Given the description of an element on the screen output the (x, y) to click on. 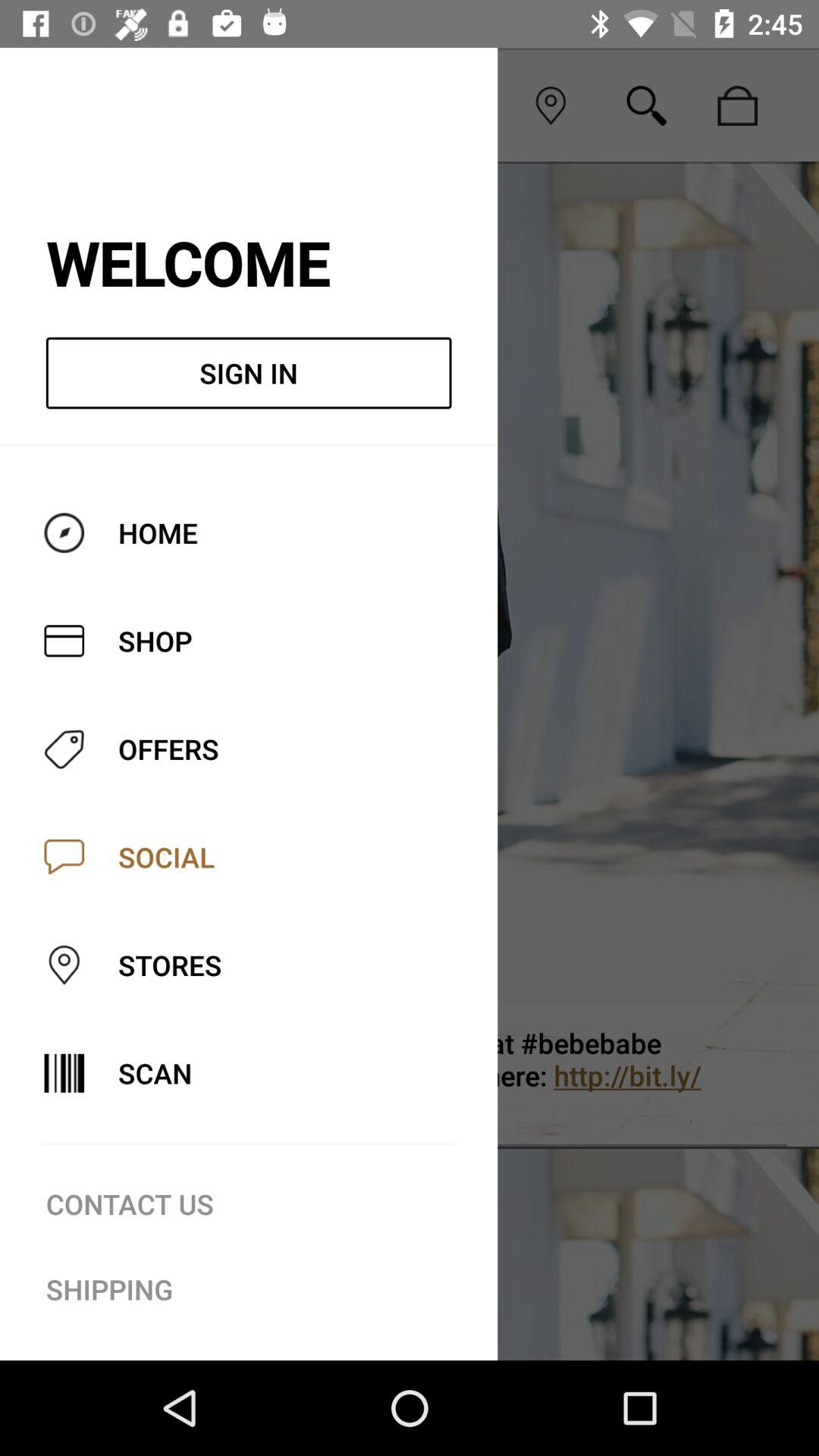
launch item to the left of embroidered bomber on icon (63, 1067)
